Given the description of an element on the screen output the (x, y) to click on. 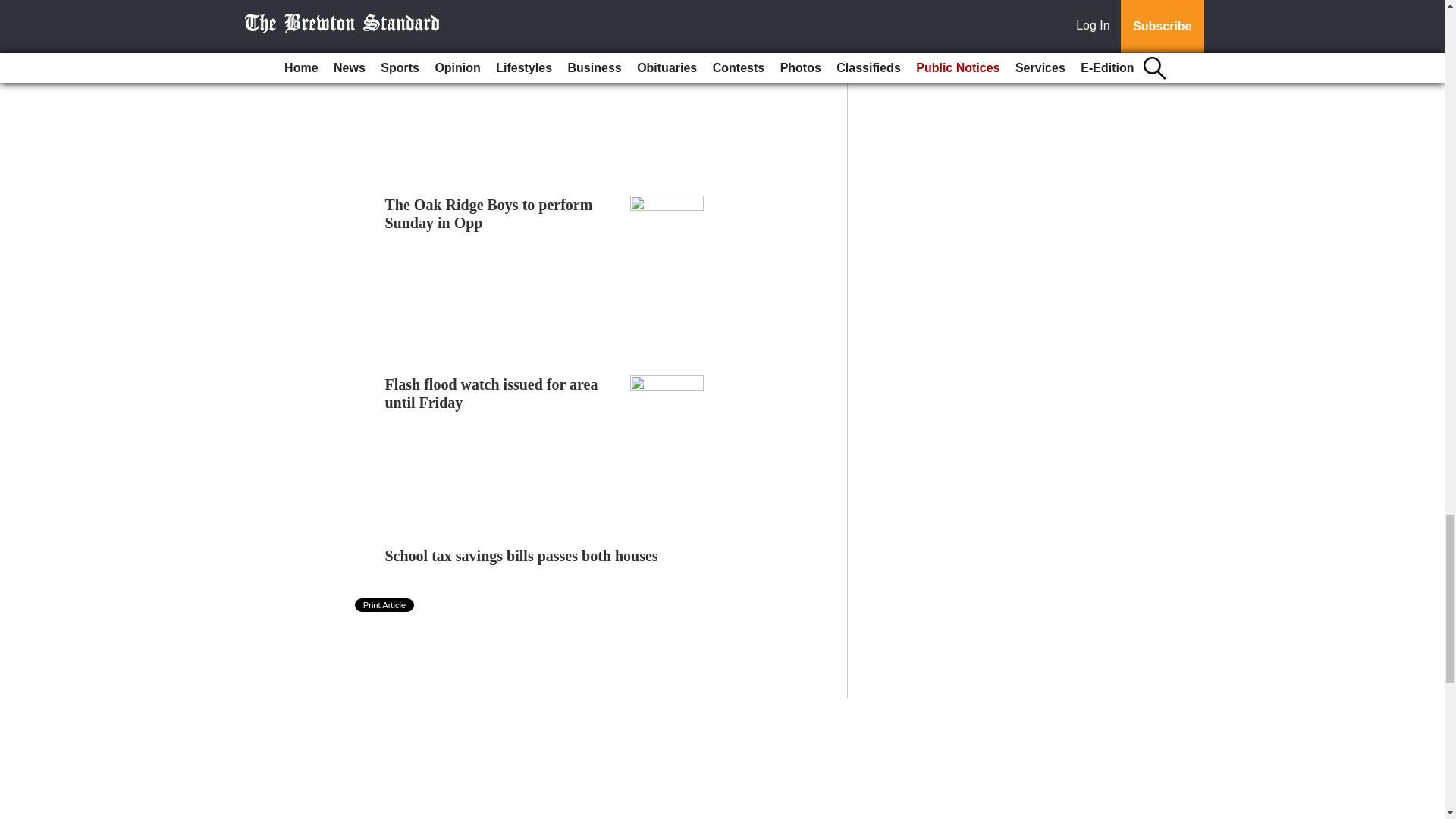
School tax savings bills passes both houses (521, 555)
Most weather impacts expected Wednesday, Thursday (486, 37)
Print Article (384, 604)
Flash flood watch issued for area until Friday (491, 393)
School tax savings bills passes both houses (521, 555)
The Oak Ridge Boys to perform Sunday in Opp (488, 212)
Most weather impacts expected Wednesday, Thursday (486, 37)
The Oak Ridge Boys to perform Sunday in Opp (488, 212)
Flash flood watch issued for area until Friday (491, 393)
